Given the description of an element on the screen output the (x, y) to click on. 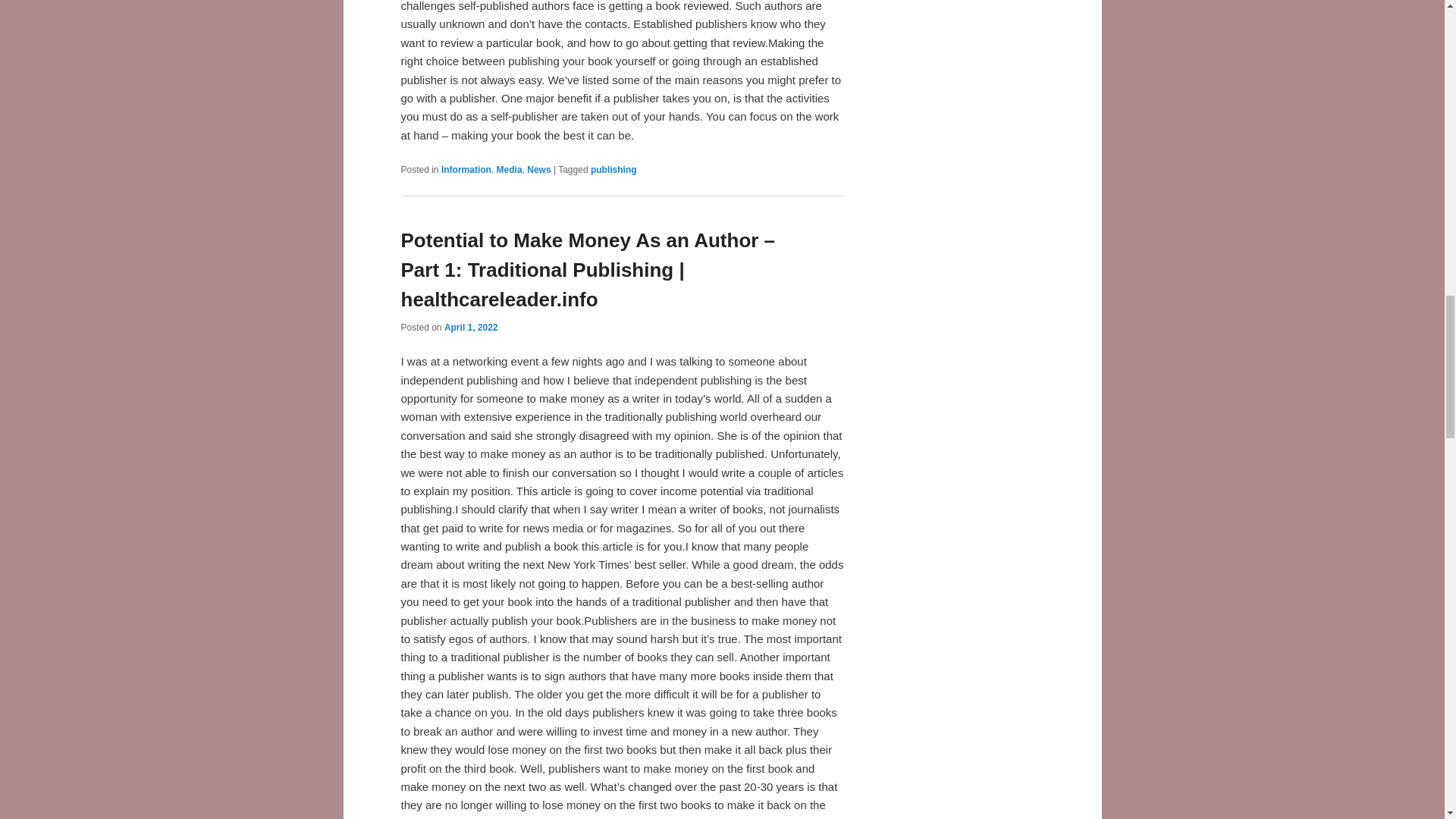
News (538, 169)
April 1, 2022 (470, 327)
publishing (614, 169)
Media (509, 169)
11:23 am (470, 327)
Information (466, 169)
